Given the description of an element on the screen output the (x, y) to click on. 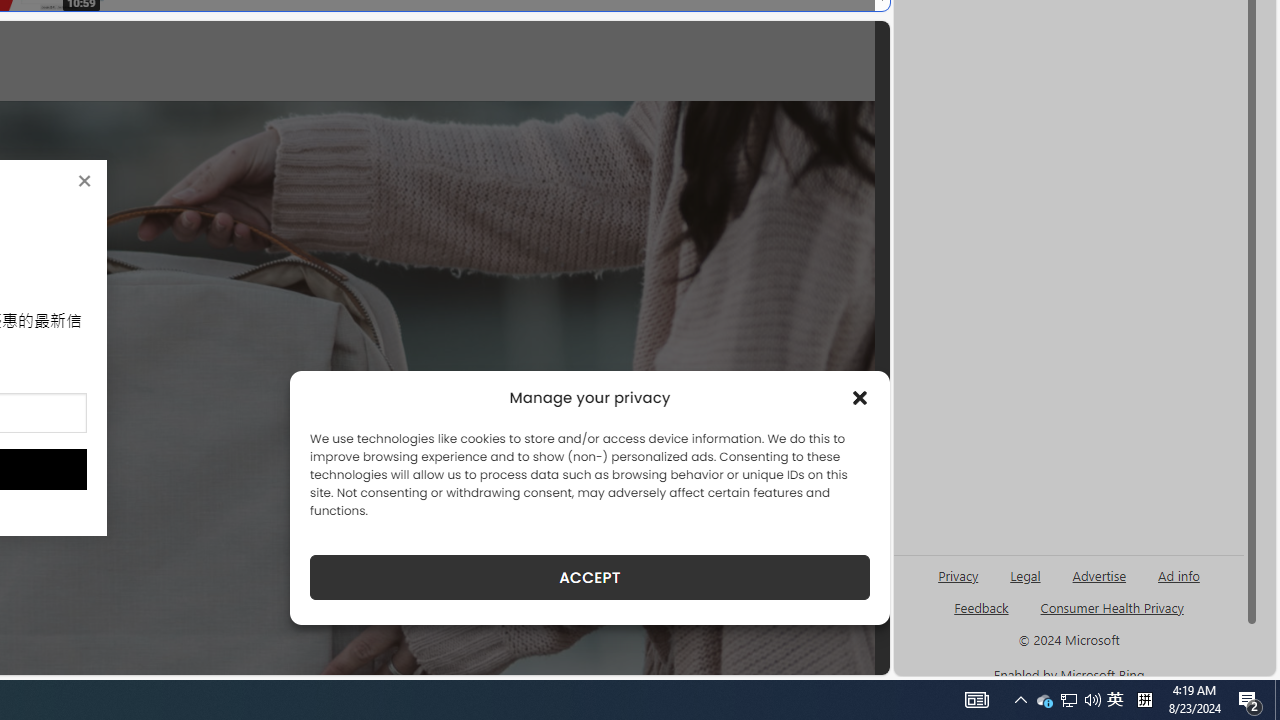
Class: cmplz-close (859, 398)
ACCEPT (589, 577)
AutomationID: sb_feedback (980, 607)
AutomationID: genId96 (981, 615)
